Given the description of an element on the screen output the (x, y) to click on. 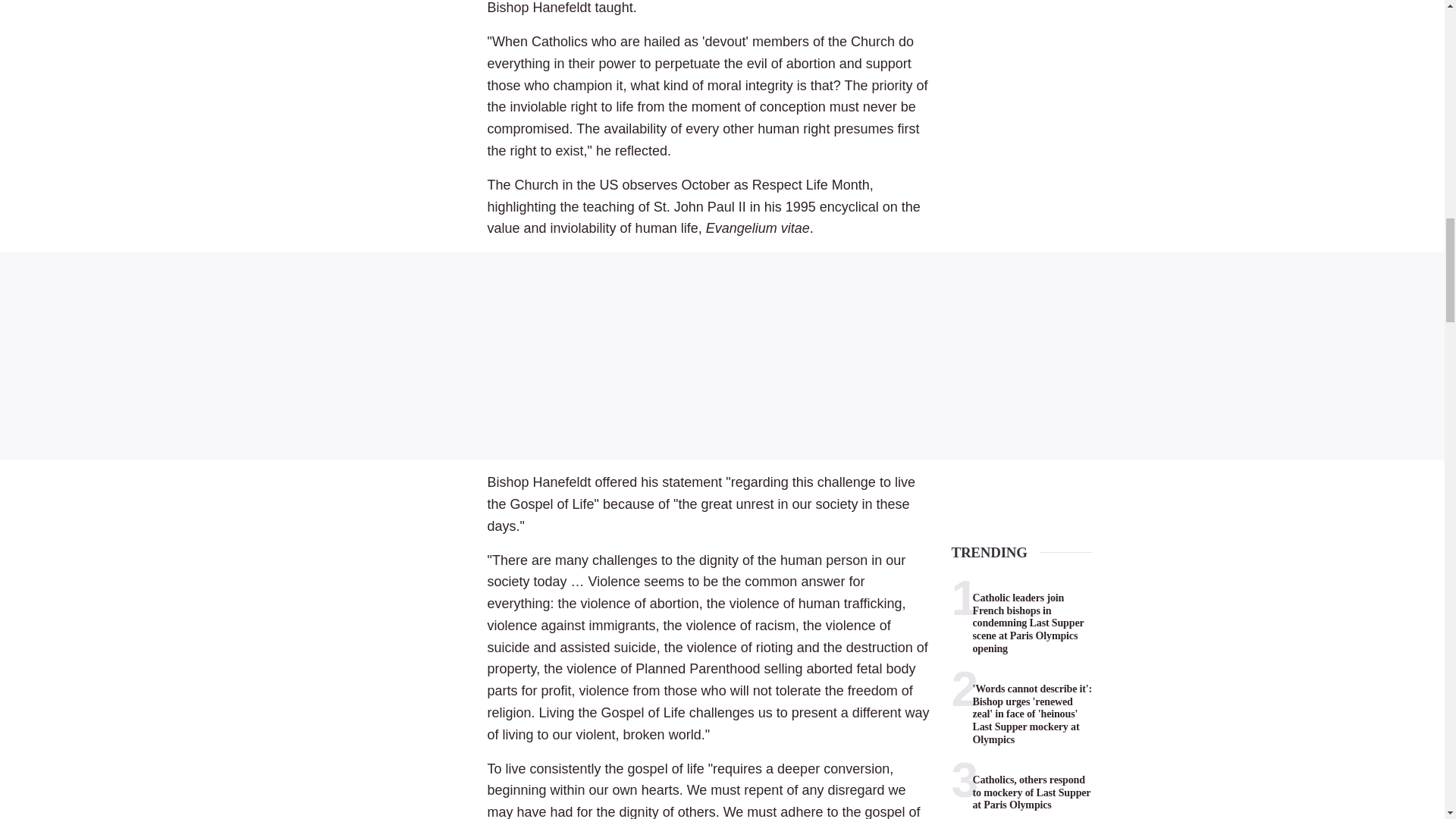
3rd party ad content (721, 355)
